Given the description of an element on the screen output the (x, y) to click on. 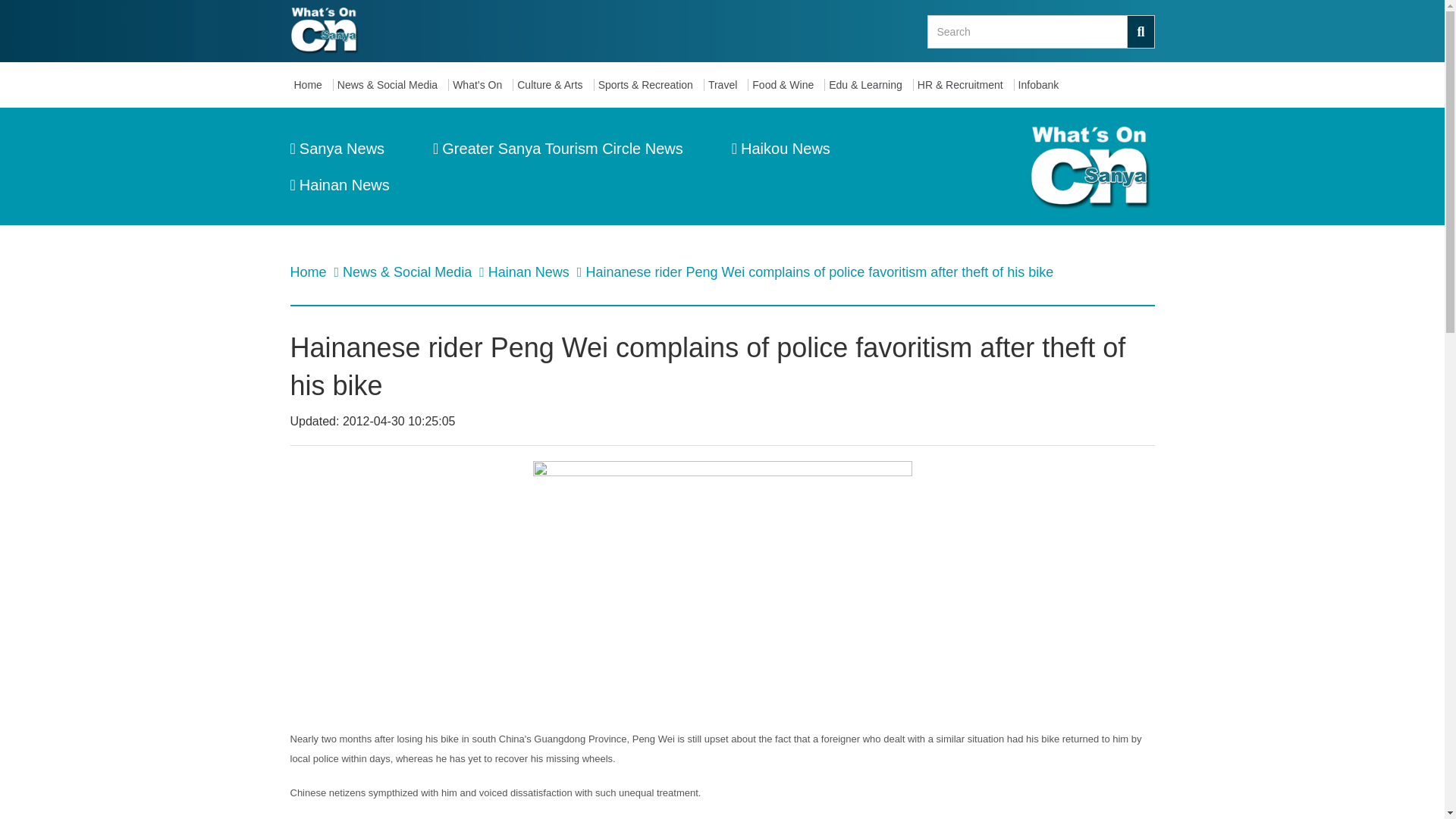
Home (309, 272)
Greater Sanya Tourism Circle News (557, 148)
Haikou News (780, 148)
Home (311, 84)
Sanya News (336, 148)
Infobank (1042, 84)
Hainan News (338, 184)
Hainan News (530, 272)
Travel (726, 84)
